Given the description of an element on the screen output the (x, y) to click on. 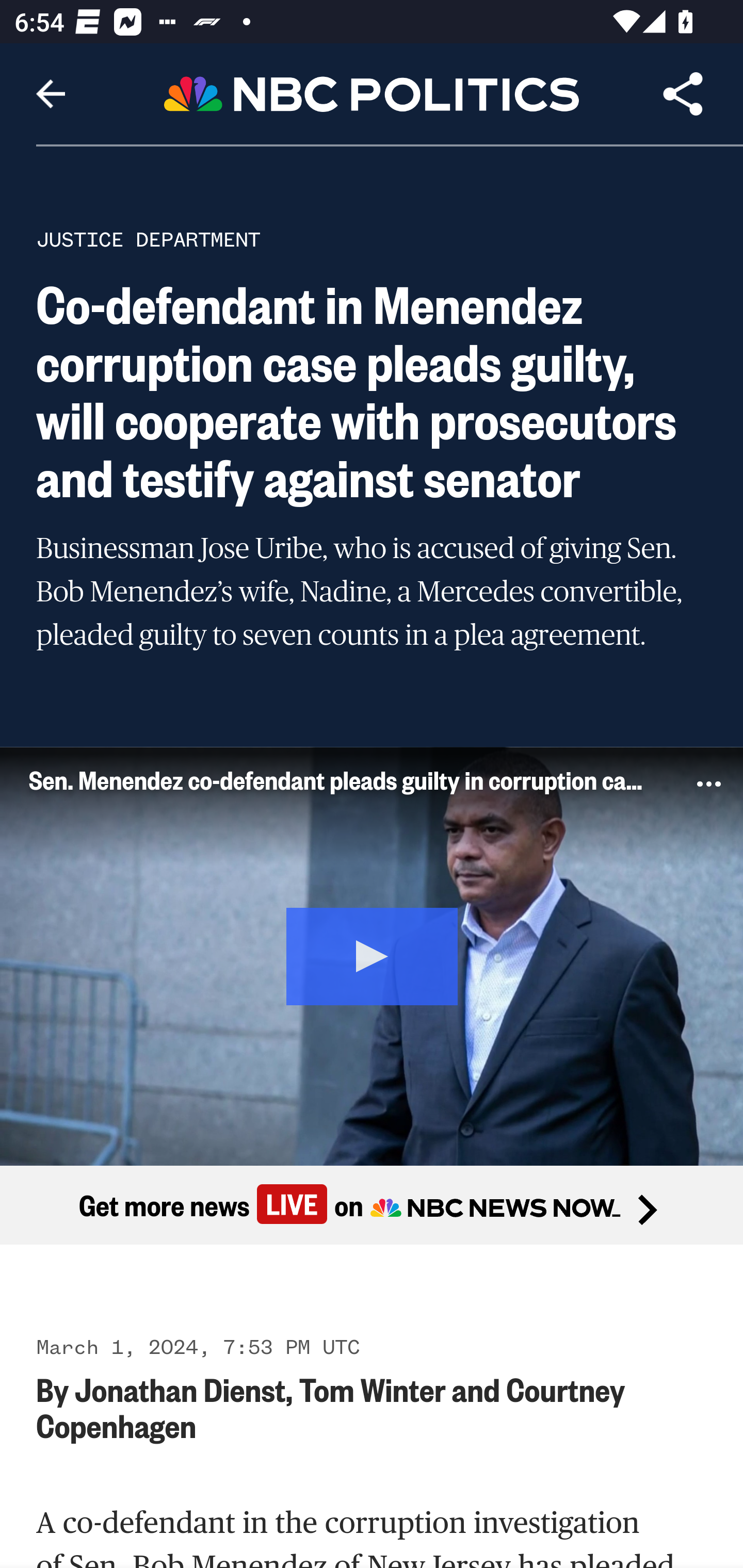
Navigate up (50, 93)
Share Article, button (683, 94)
Header, NBC Politics (371, 93)
JUSTICE DEPARTMENT (148, 239)
Video Player Unable to play media. Play   (371, 955)
Play (372, 954)
Get more news Live on Get more news Live on (371, 1203)
